Given the description of an element on the screen output the (x, y) to click on. 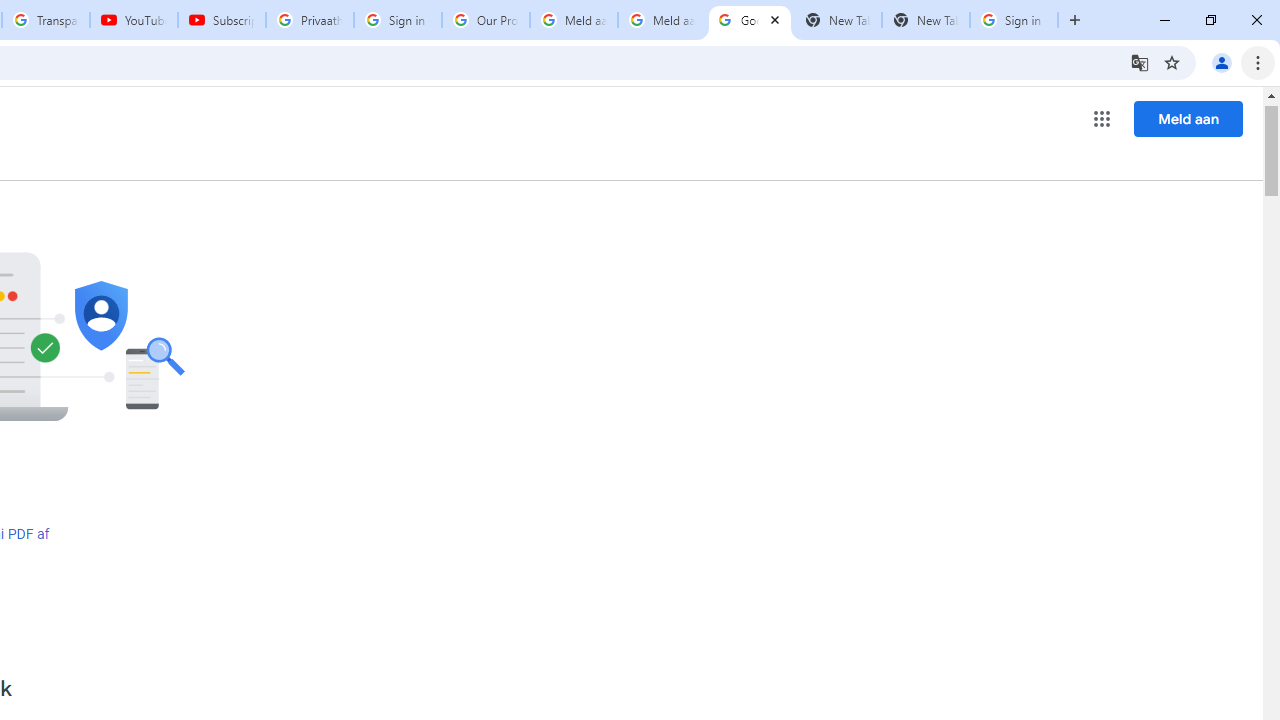
New Tab (925, 20)
Google-programme (1101, 118)
Translate this page (1139, 62)
